Given the description of an element on the screen output the (x, y) to click on. 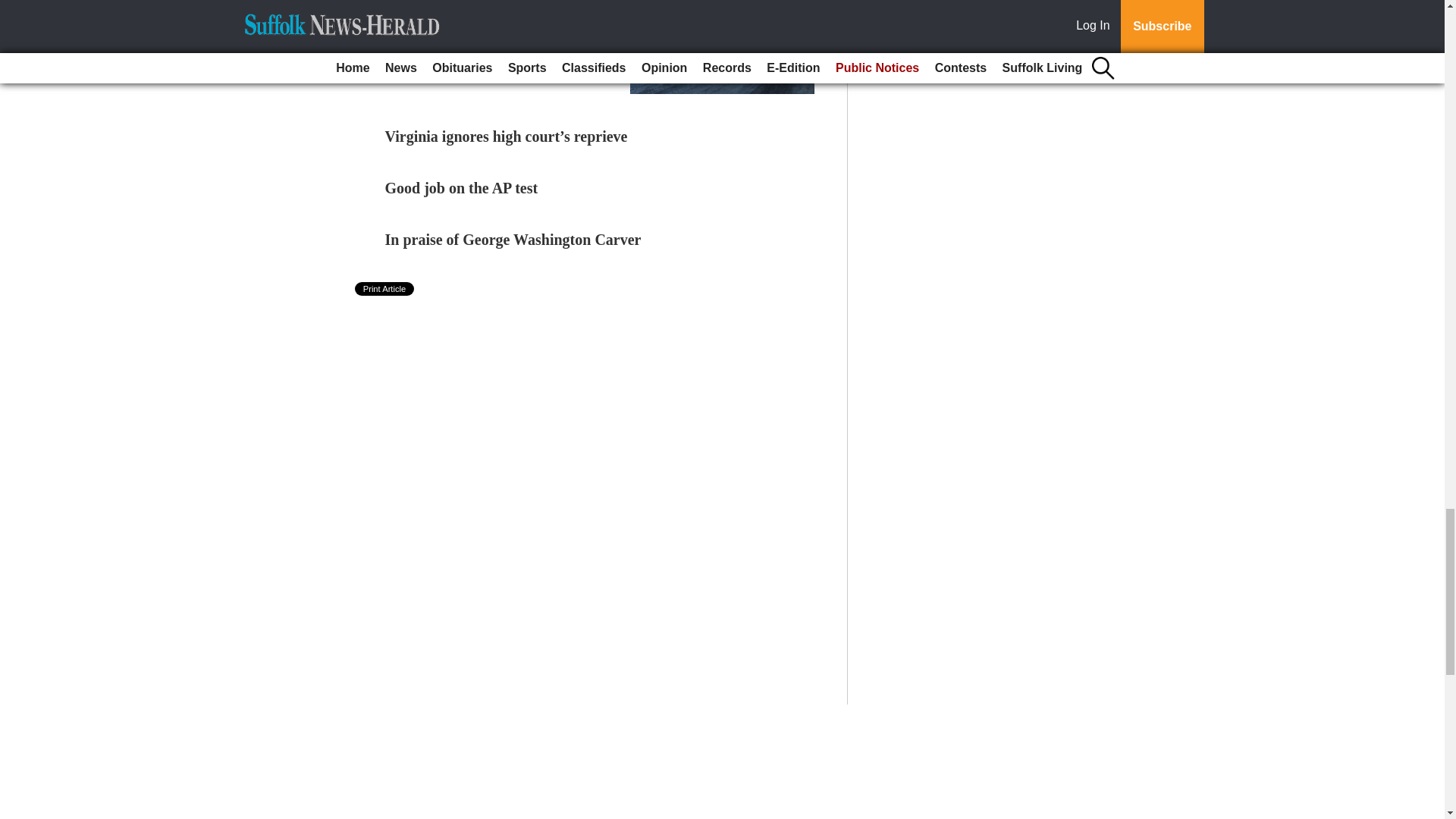
In praise of George Washington Carver (513, 239)
Print Article (384, 288)
Good job on the AP test (461, 187)
In praise of George Washington Carver (513, 239)
Good job on the AP test (461, 187)
